Given the description of an element on the screen output the (x, y) to click on. 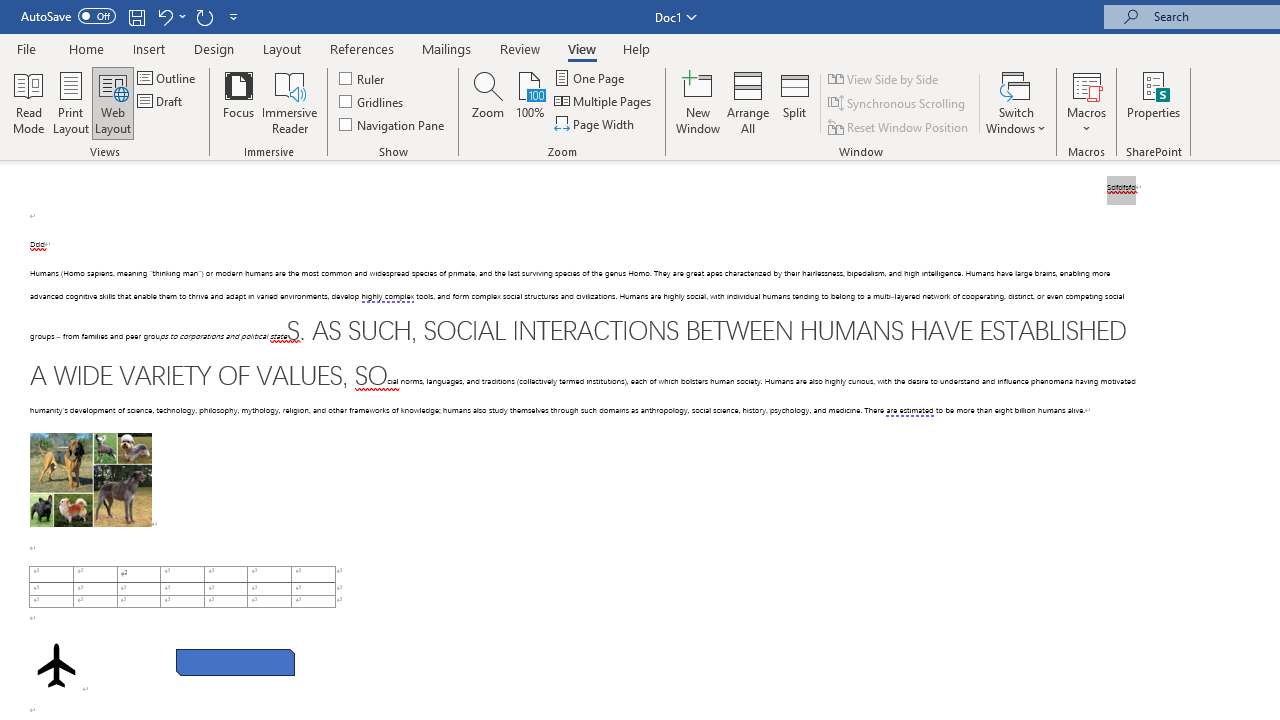
Focus (238, 102)
Immersive Reader (289, 102)
Rectangle: Diagonal Corners Snipped 2 (235, 662)
Arrange All (747, 102)
Macros (1086, 102)
Page Width (595, 124)
Navigation Pane (392, 124)
Repeat Paragraph Alignment (204, 15)
Multiple Pages (603, 101)
Zoom... (488, 102)
Gridlines (372, 101)
